Given the description of an element on the screen output the (x, y) to click on. 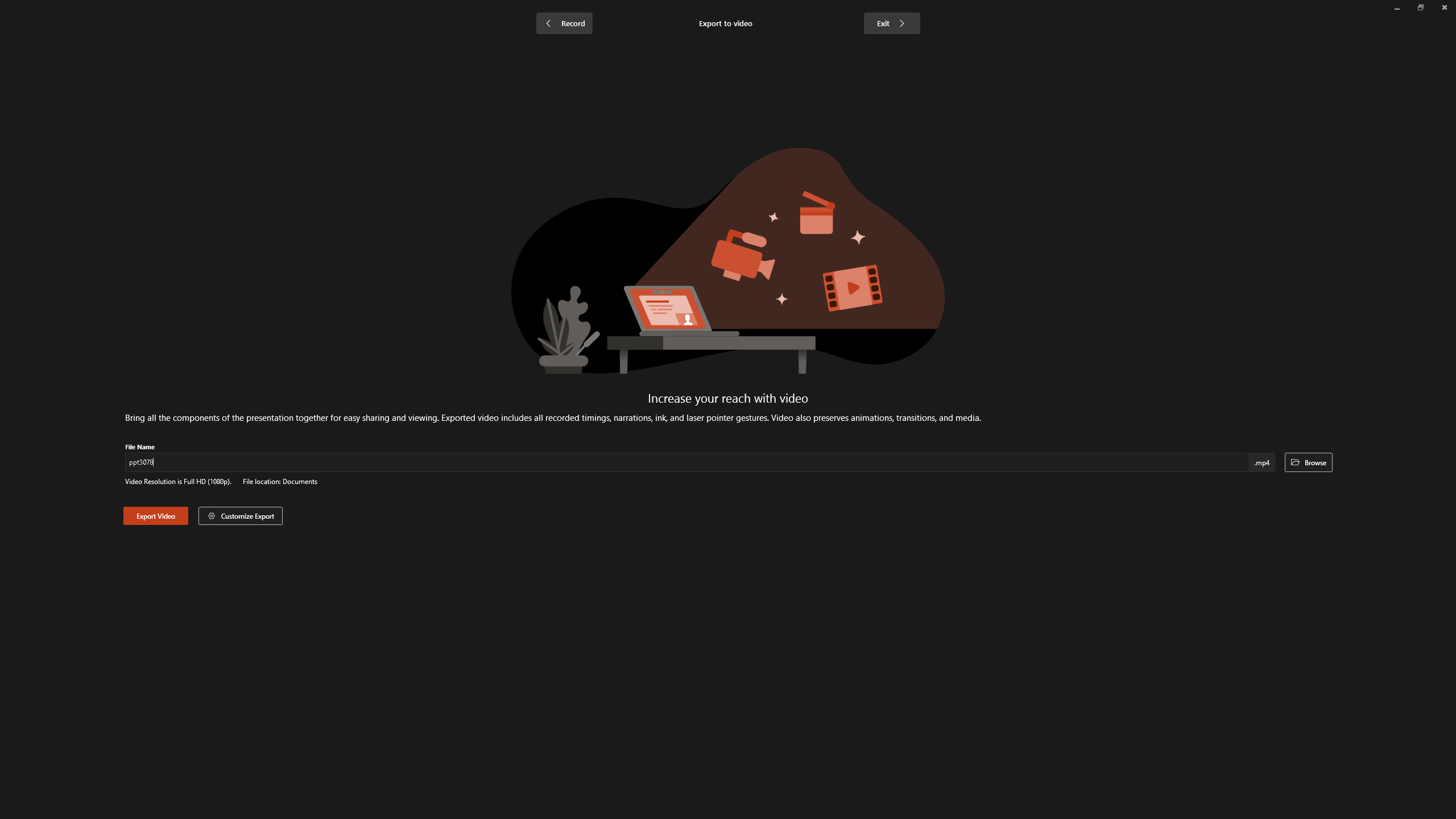
TextBox 61 (877, 389)
Zoom 59% (1431, 790)
